Given the description of an element on the screen output the (x, y) to click on. 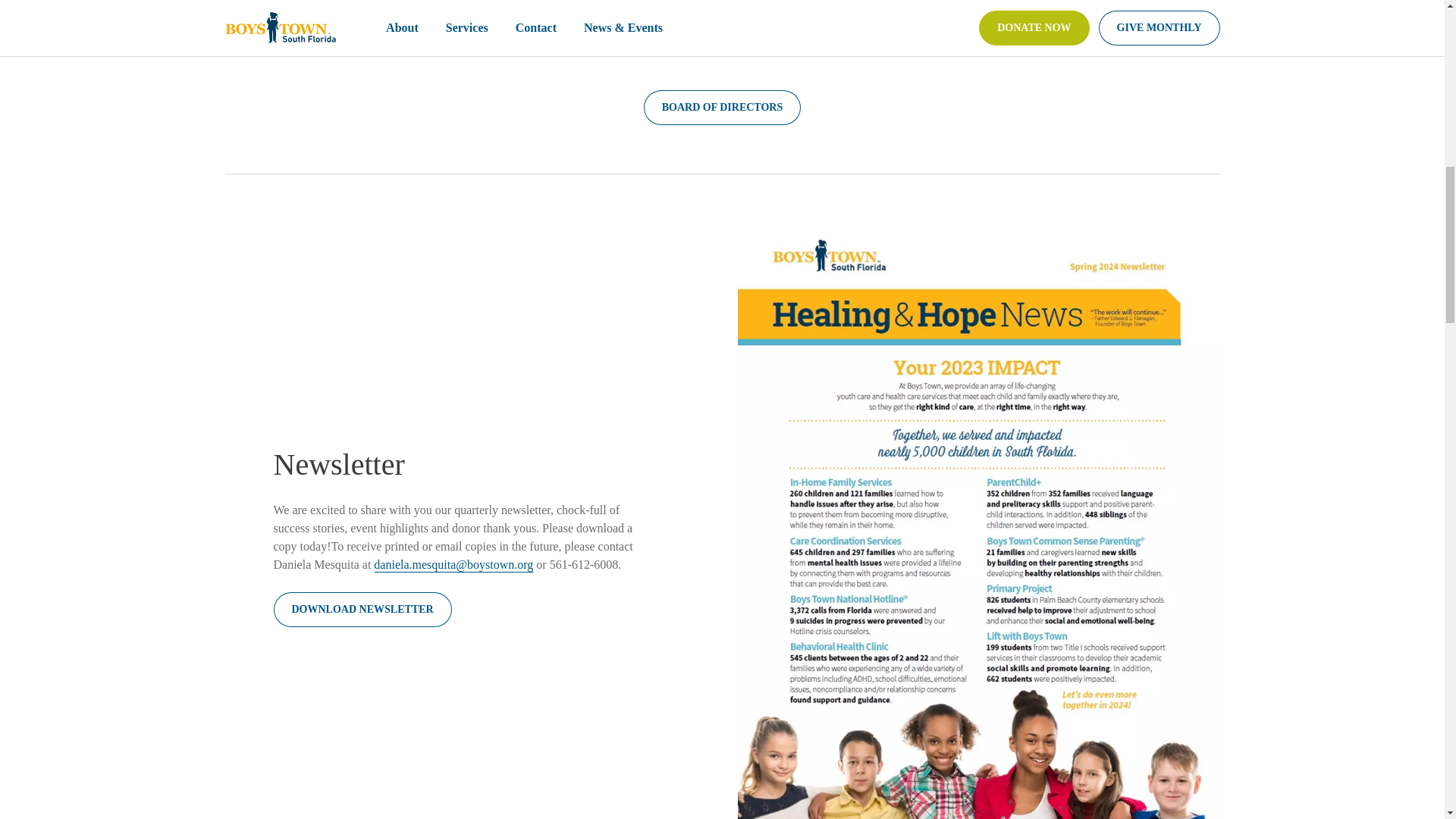
South Florida Newsletter (362, 609)
BOARD OF DIRECTORS (721, 107)
DOWNLOAD NEWSLETTER (362, 609)
Board of Directors (721, 107)
